Given the description of an element on the screen output the (x, y) to click on. 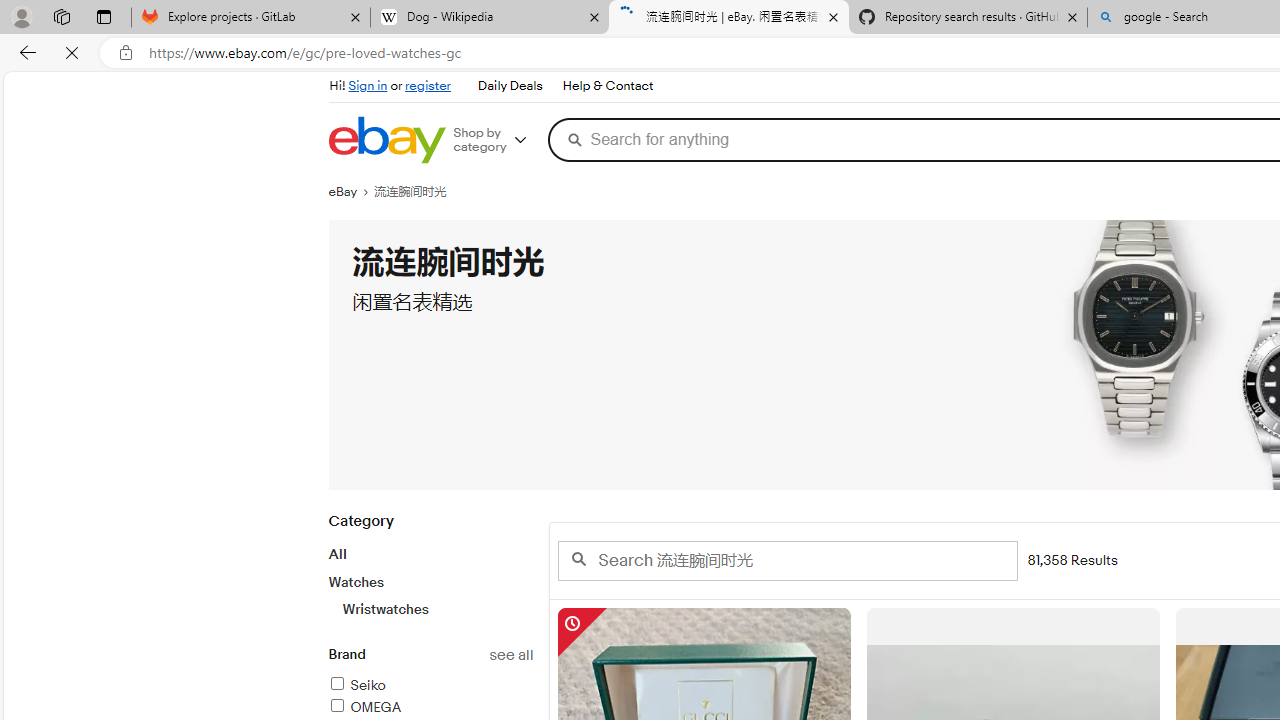
Help & Contact (606, 85)
Enter your search keyword (786, 560)
Shop by category (496, 140)
Daily Deals (509, 86)
Help & Contact (607, 86)
eBay (351, 192)
eBay (351, 191)
Dog - Wikipedia (490, 17)
